Given the description of an element on the screen output the (x, y) to click on. 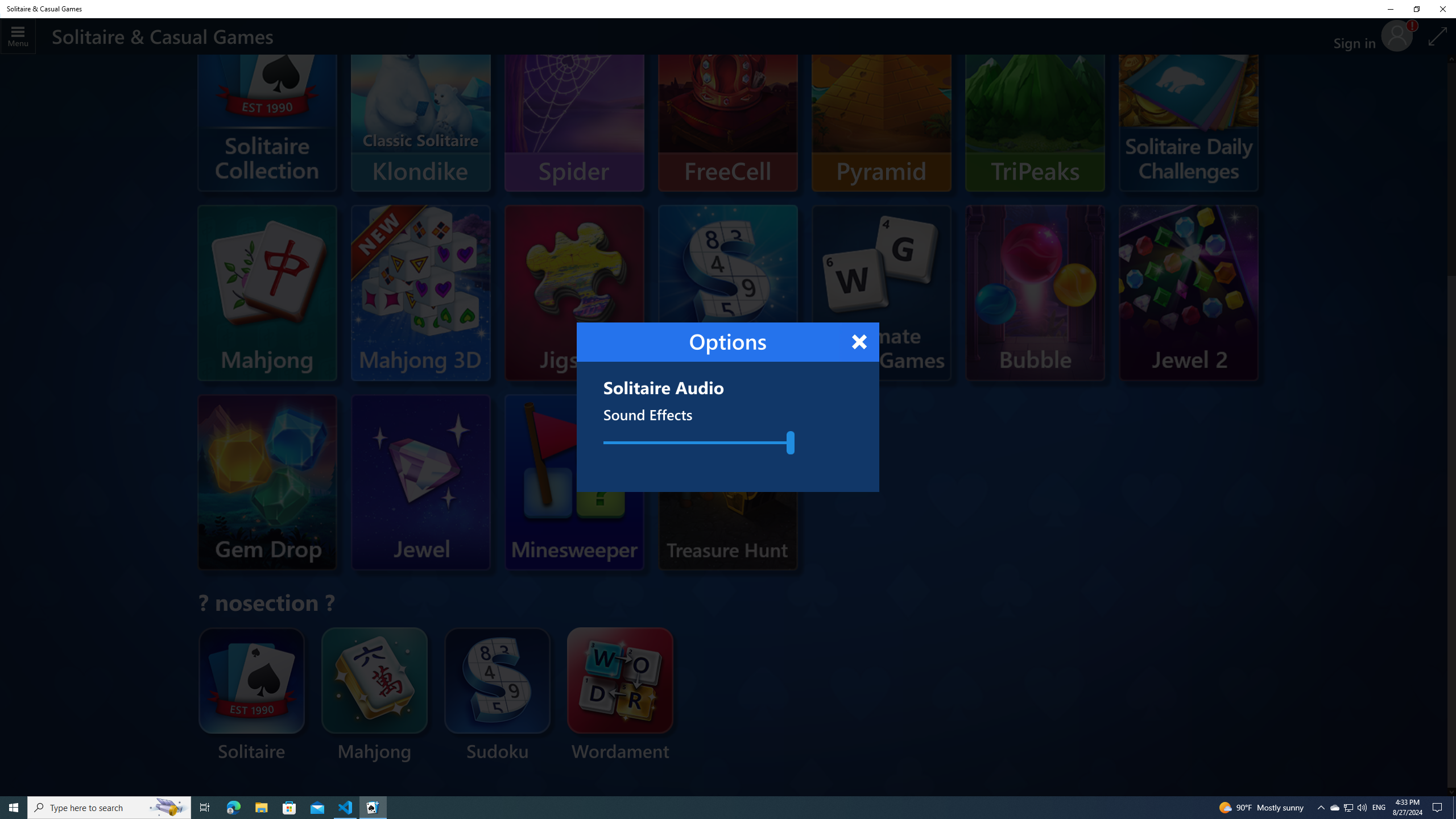
Wordament (620, 695)
Action Center, No new notifications (1439, 807)
Spider (574, 103)
Tray Input Indicator - English (United States) (1378, 807)
Classic Solitaire, Klondike (420, 103)
Microsoft Edge (233, 807)
Solitaire & Casual Games - 1 running window (373, 807)
Challenges (1187, 103)
Solitaire (252, 695)
Pyramid (881, 103)
